Given the description of an element on the screen output the (x, y) to click on. 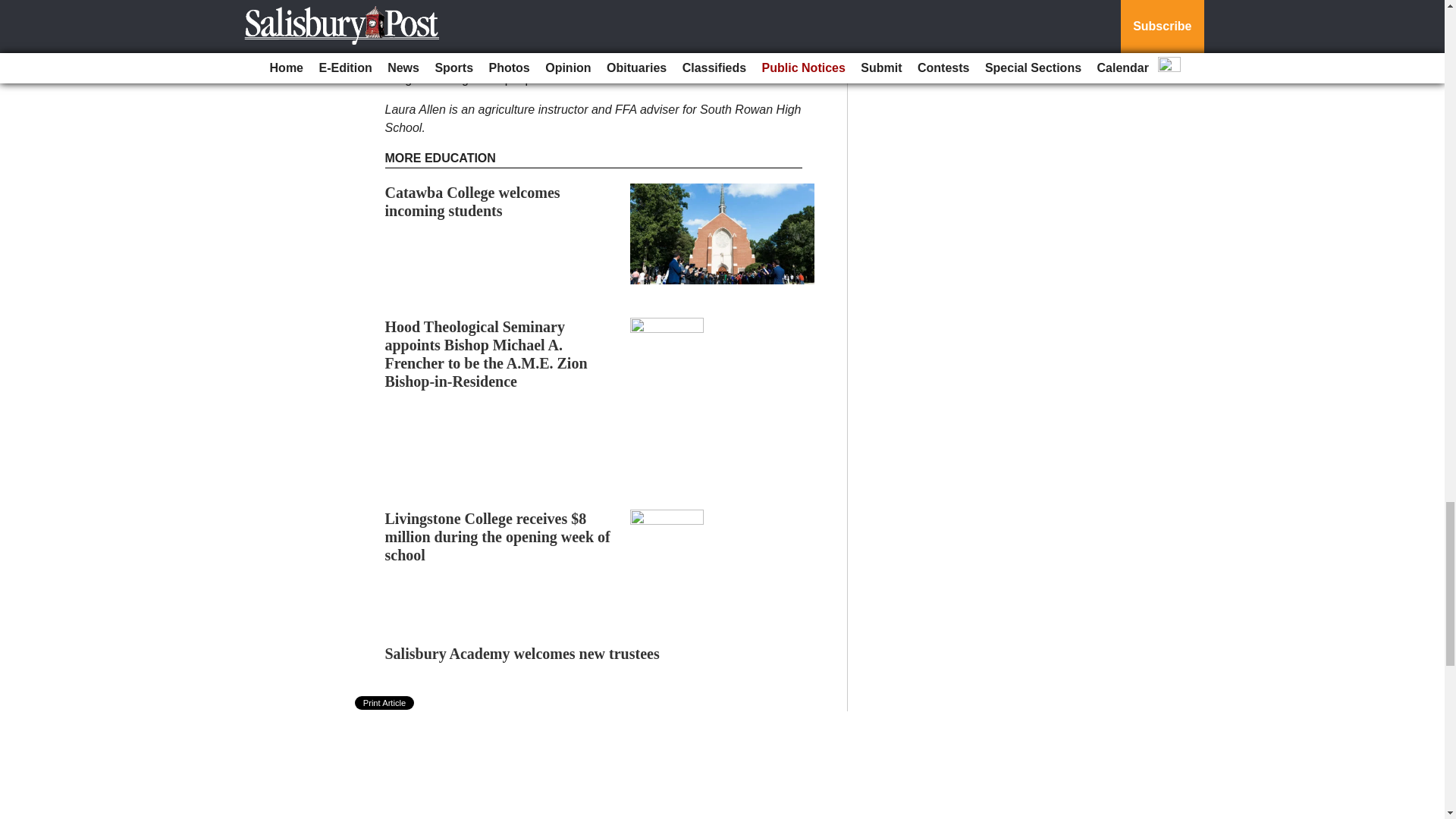
Salisbury Academy welcomes new trustees (522, 653)
Catawba College welcomes incoming students (472, 201)
